Given the description of an element on the screen output the (x, y) to click on. 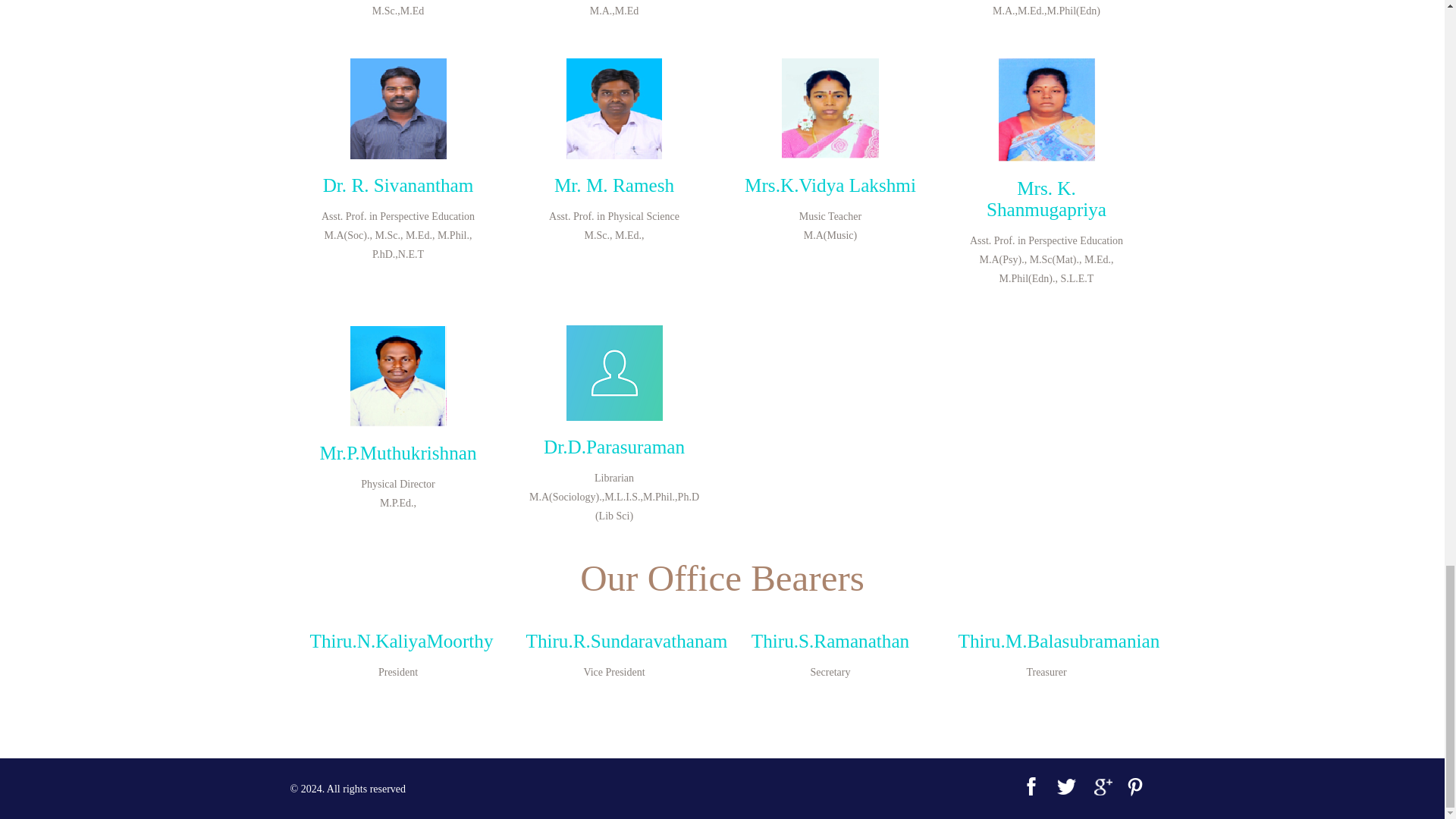
Dr. R. Sivanantham (398, 185)
Thiru.R.Sundaravathanam (626, 640)
Thiru.N.KaliyaMoorthy (400, 640)
Dr.D.Parasuraman (613, 446)
Mrs. K. Shanmugapriya (1046, 199)
Thiru.M.Balasubramanian (1059, 640)
Mrs.K.Vidya Lakshmi (829, 185)
Thiru.S.Ramanathan (829, 640)
Mr.P.Muthukrishnan (397, 453)
Mr. M. Ramesh (614, 185)
